Given the description of an element on the screen output the (x, y) to click on. 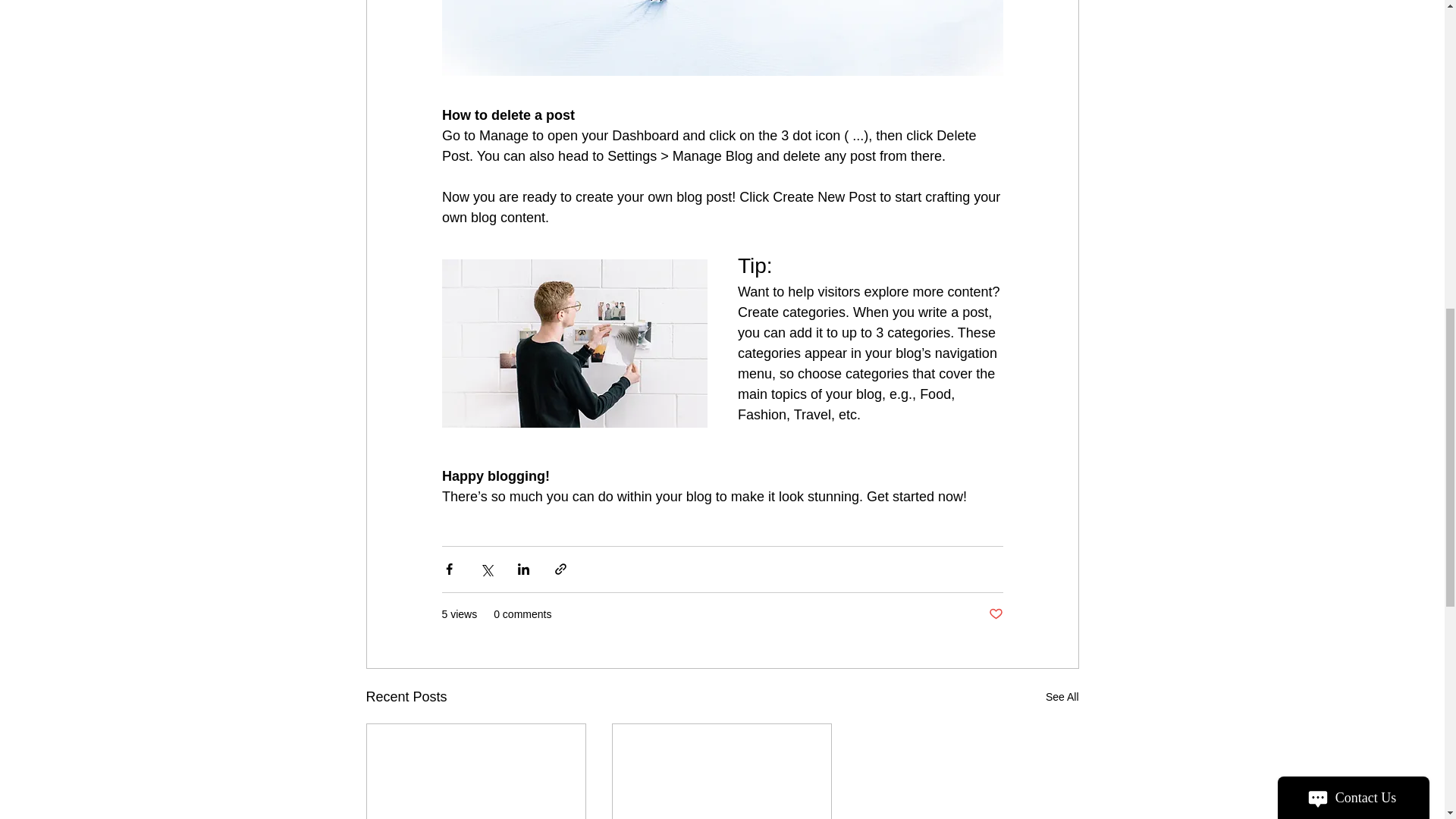
Post not marked as liked (995, 614)
See All (1061, 697)
